Given the description of an element on the screen output the (x, y) to click on. 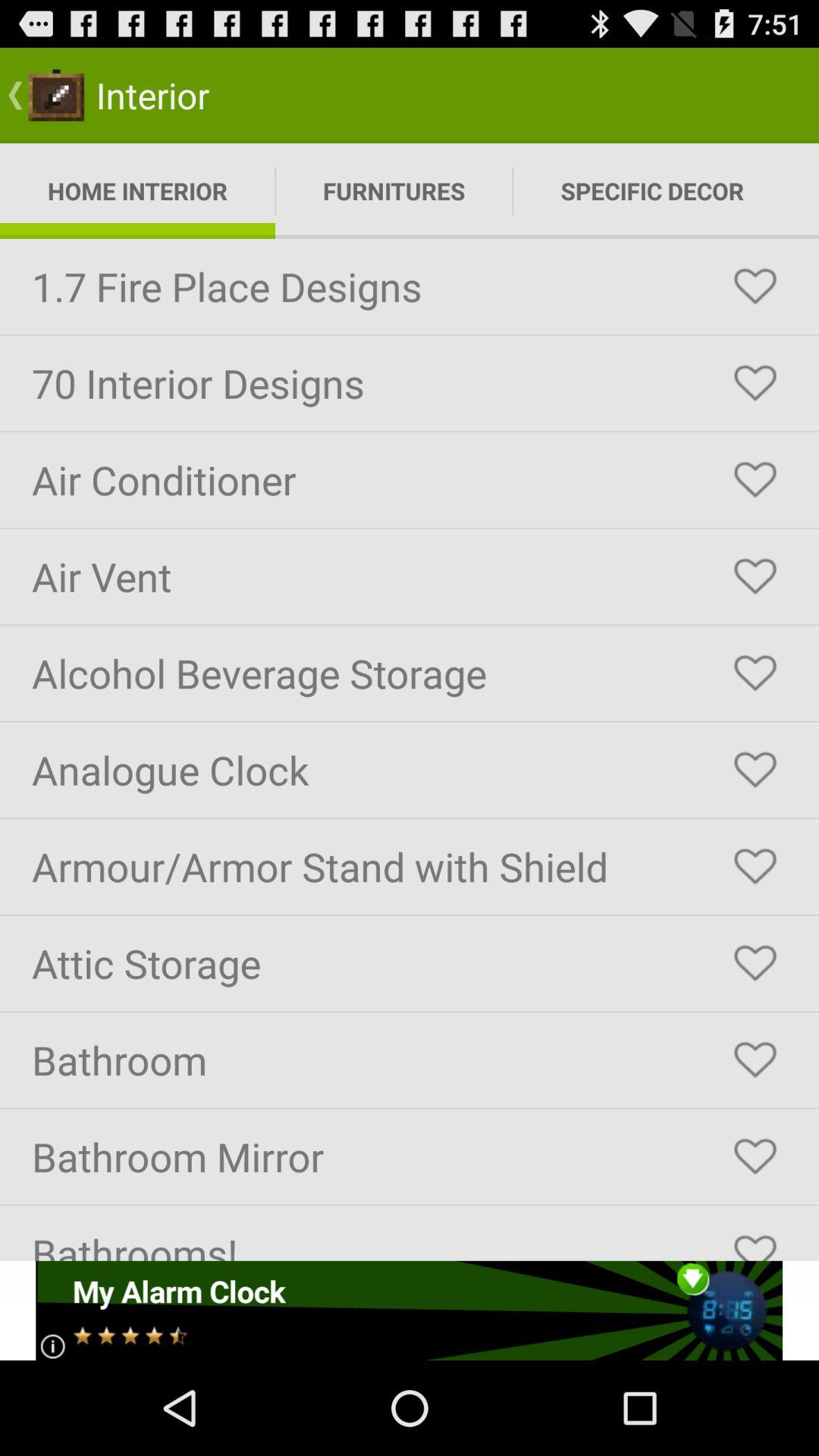
like the feature (755, 673)
